Given the description of an element on the screen output the (x, y) to click on. 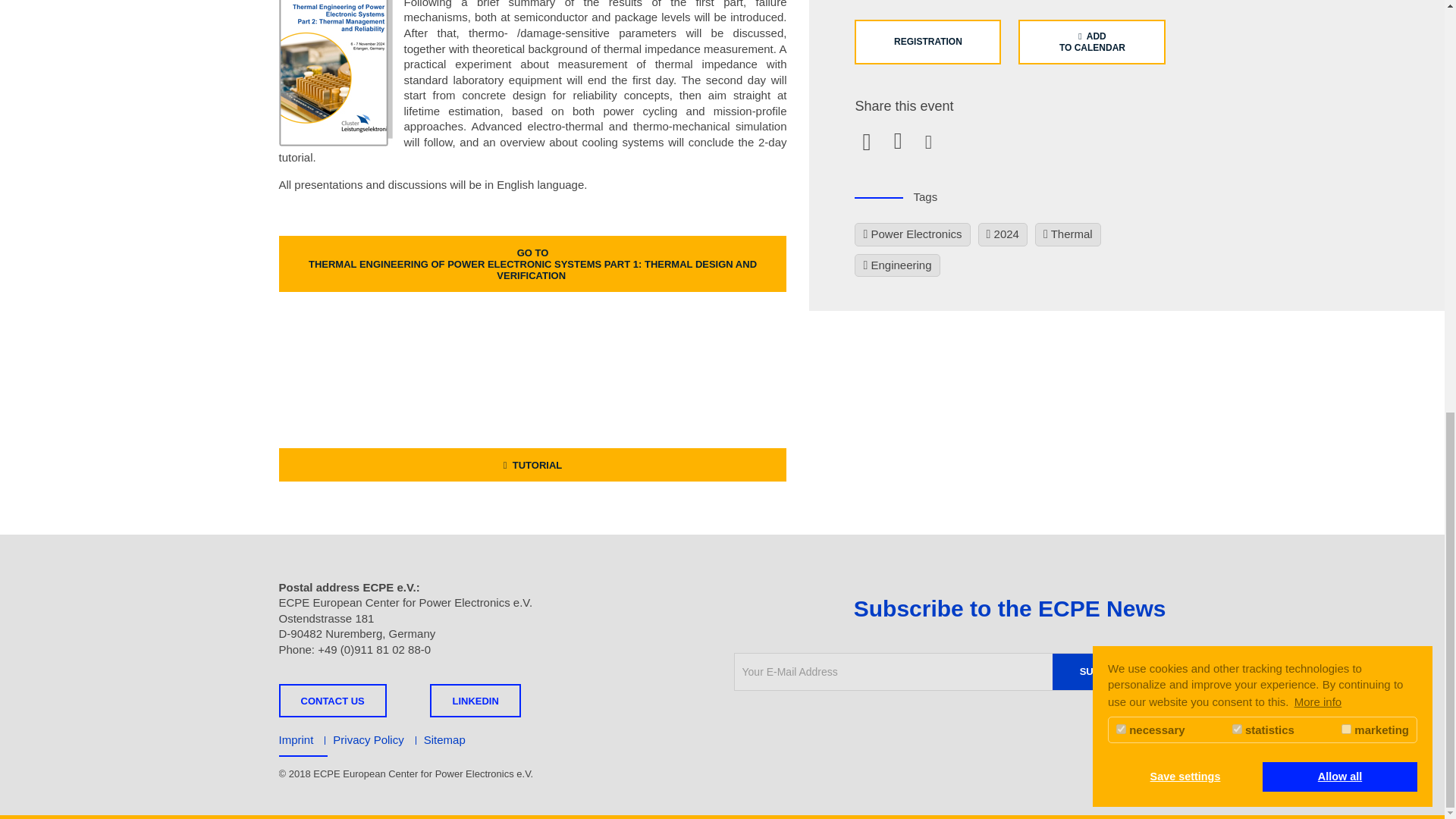
Subscribe (1109, 671)
